Given the description of an element on the screen output the (x, y) to click on. 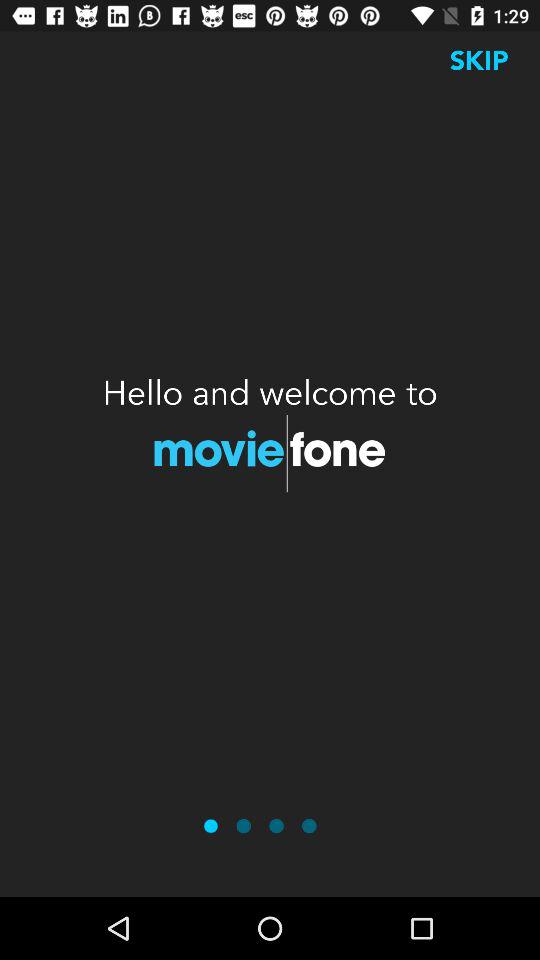
flip until the skip (479, 60)
